Given the description of an element on the screen output the (x, y) to click on. 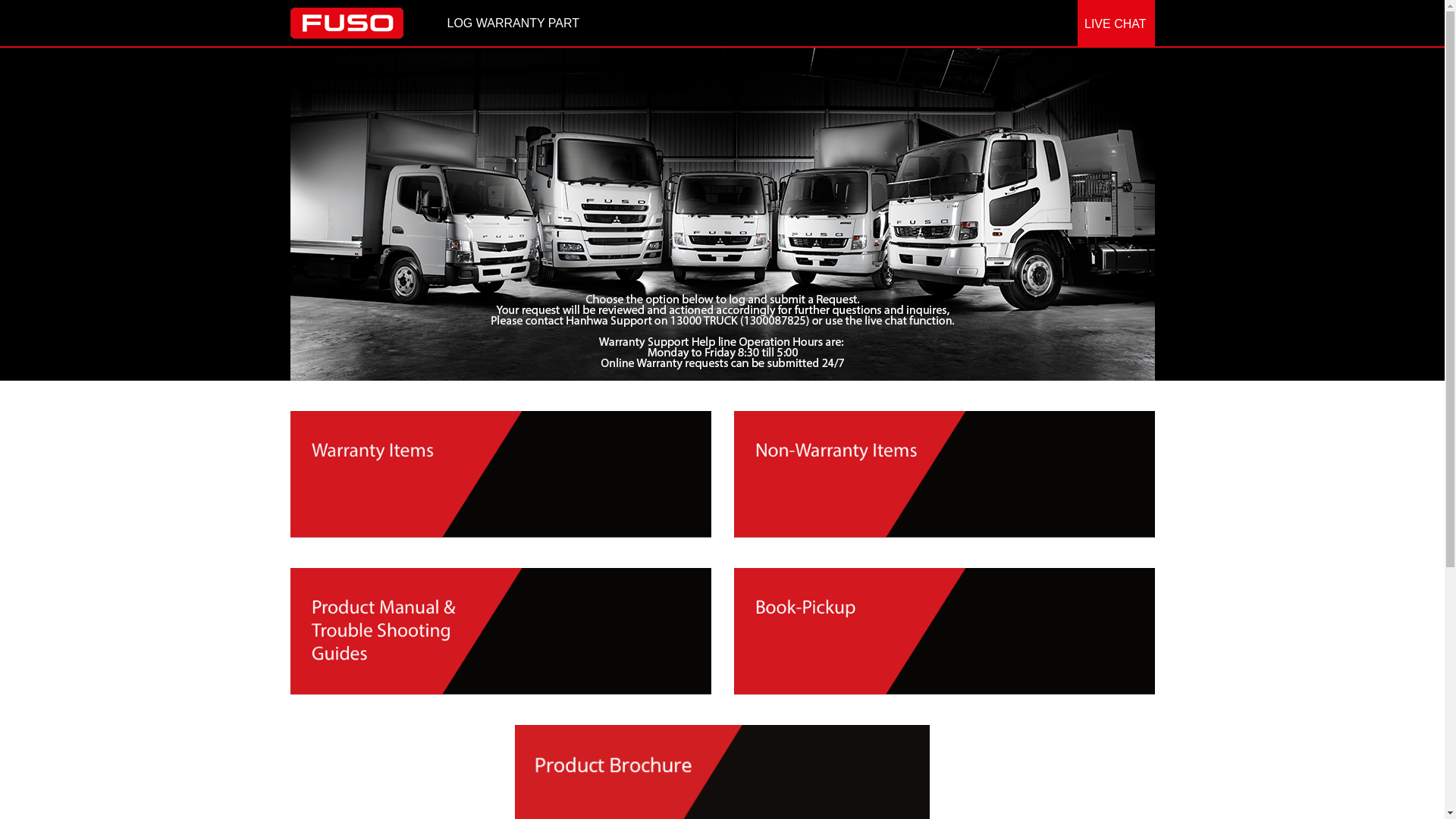
LIVE CHAT Element type: text (1115, 23)
